Given the description of an element on the screen output the (x, y) to click on. 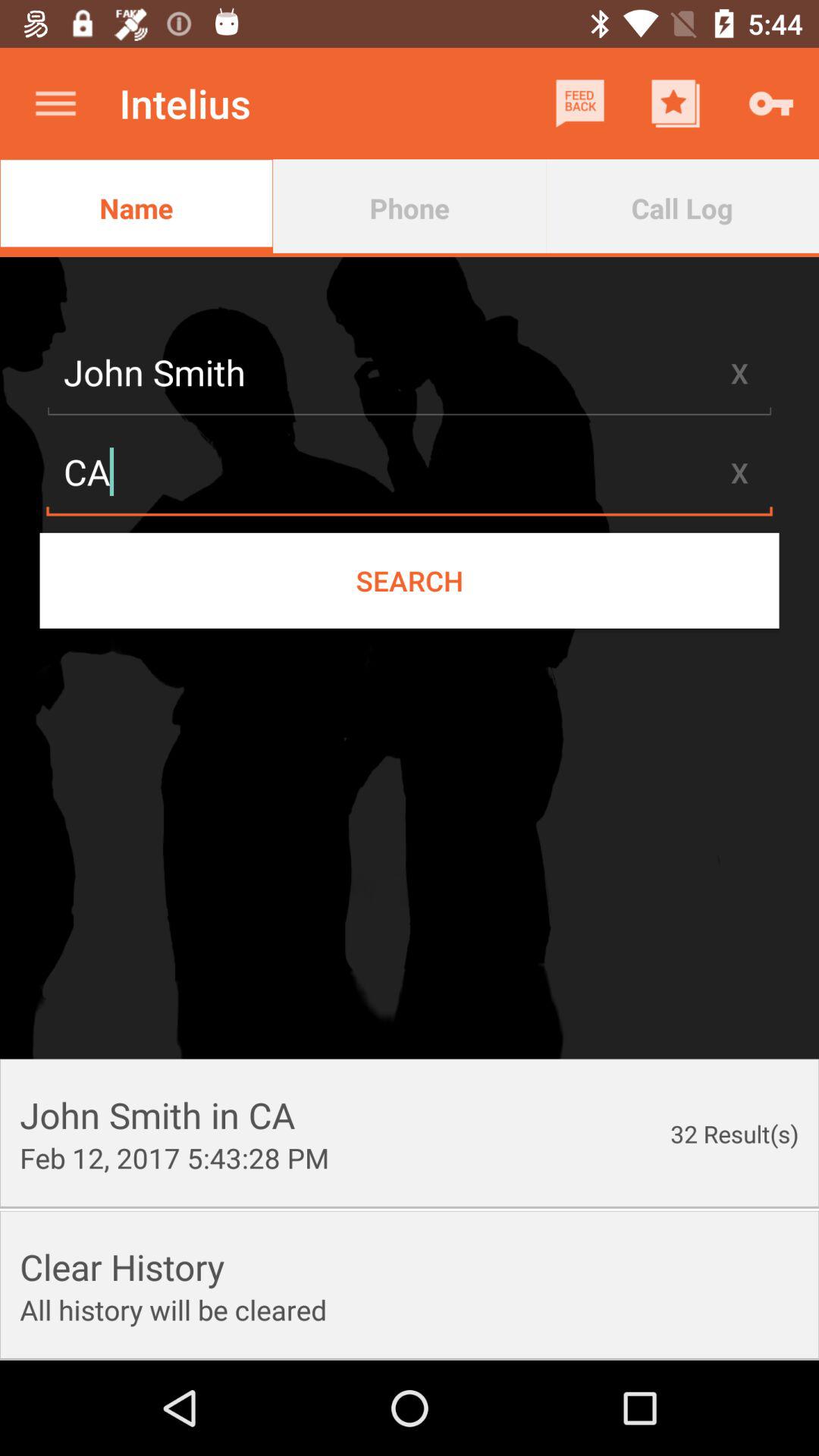
choose feb 12 2017 app (174, 1157)
